Given the description of an element on the screen output the (x, y) to click on. 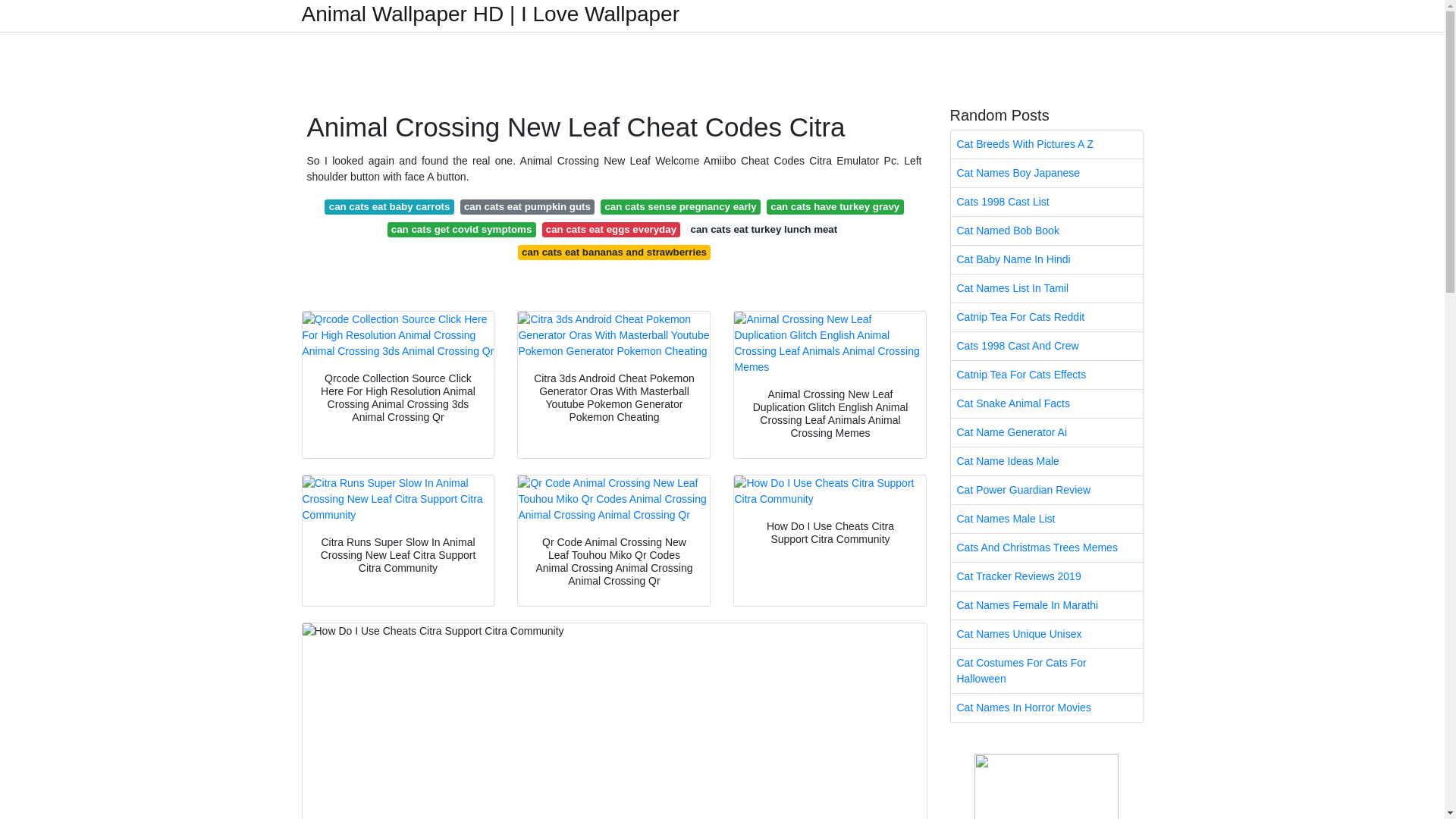
can cats get covid symptoms (461, 229)
Cat Names Boy Japanese (1046, 172)
Cat Named Bob Book (1046, 230)
Cat Names List In Tamil (1046, 288)
Catnip Tea For Cats Effects (1046, 375)
can cats eat baby carrots (388, 206)
can cats eat eggs everyday (610, 229)
Catnip Tea For Cats Reddit (1046, 317)
Cat Baby Name In Hindi (1046, 259)
Cat Snake Animal Facts (1046, 403)
Cats 1998 Cast List (1046, 202)
can cats eat pumpkin guts (527, 206)
can cats sense pregnancy early (679, 206)
can cats eat bananas and strawberries (614, 252)
Cat Breeds With Pictures A Z (1046, 144)
